Given the description of an element on the screen output the (x, y) to click on. 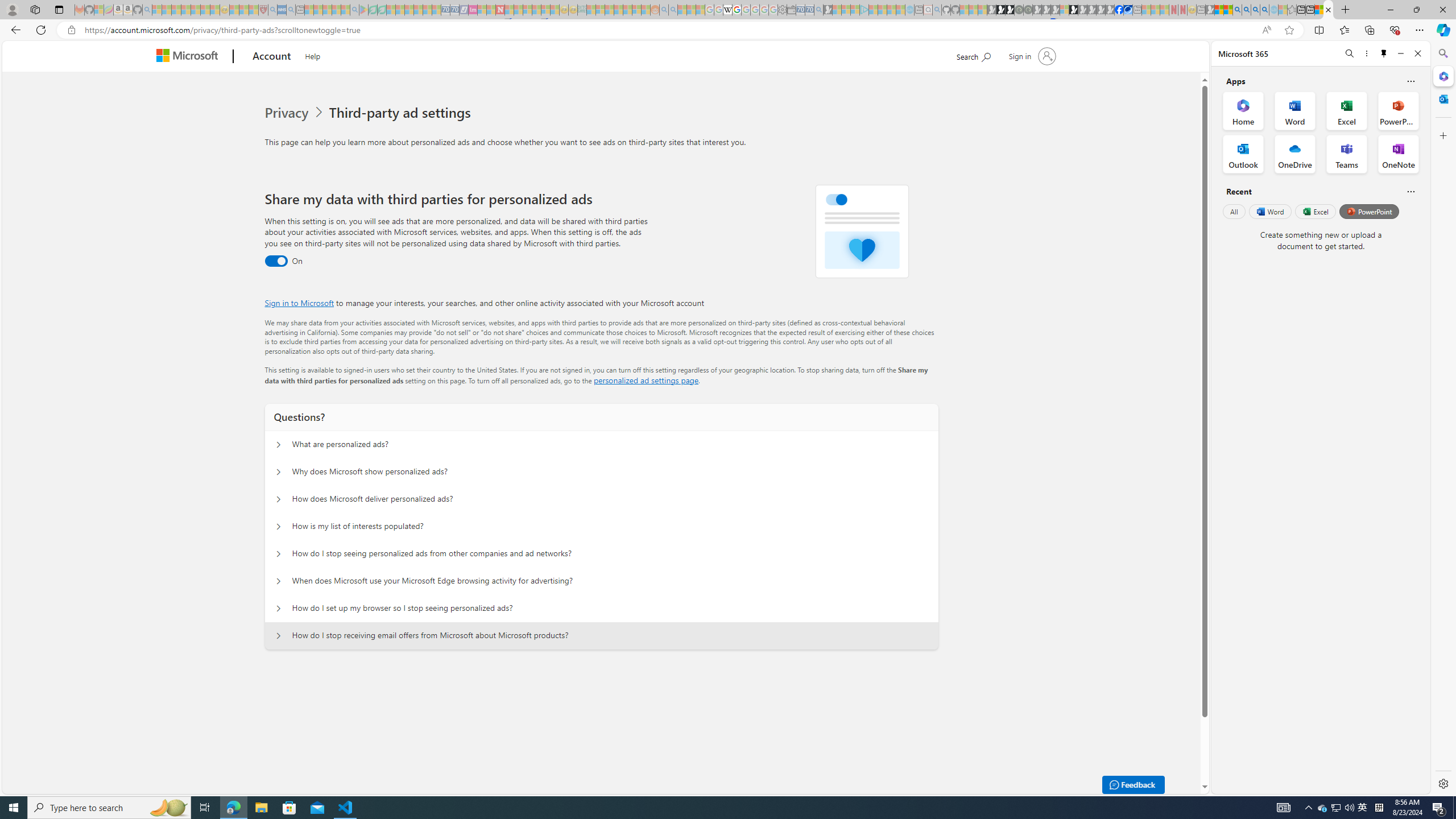
Target page - Wikipedia (726, 9)
OneDrive Office App (1295, 154)
Word Office App (1295, 110)
